Given the description of an element on the screen output the (x, y) to click on. 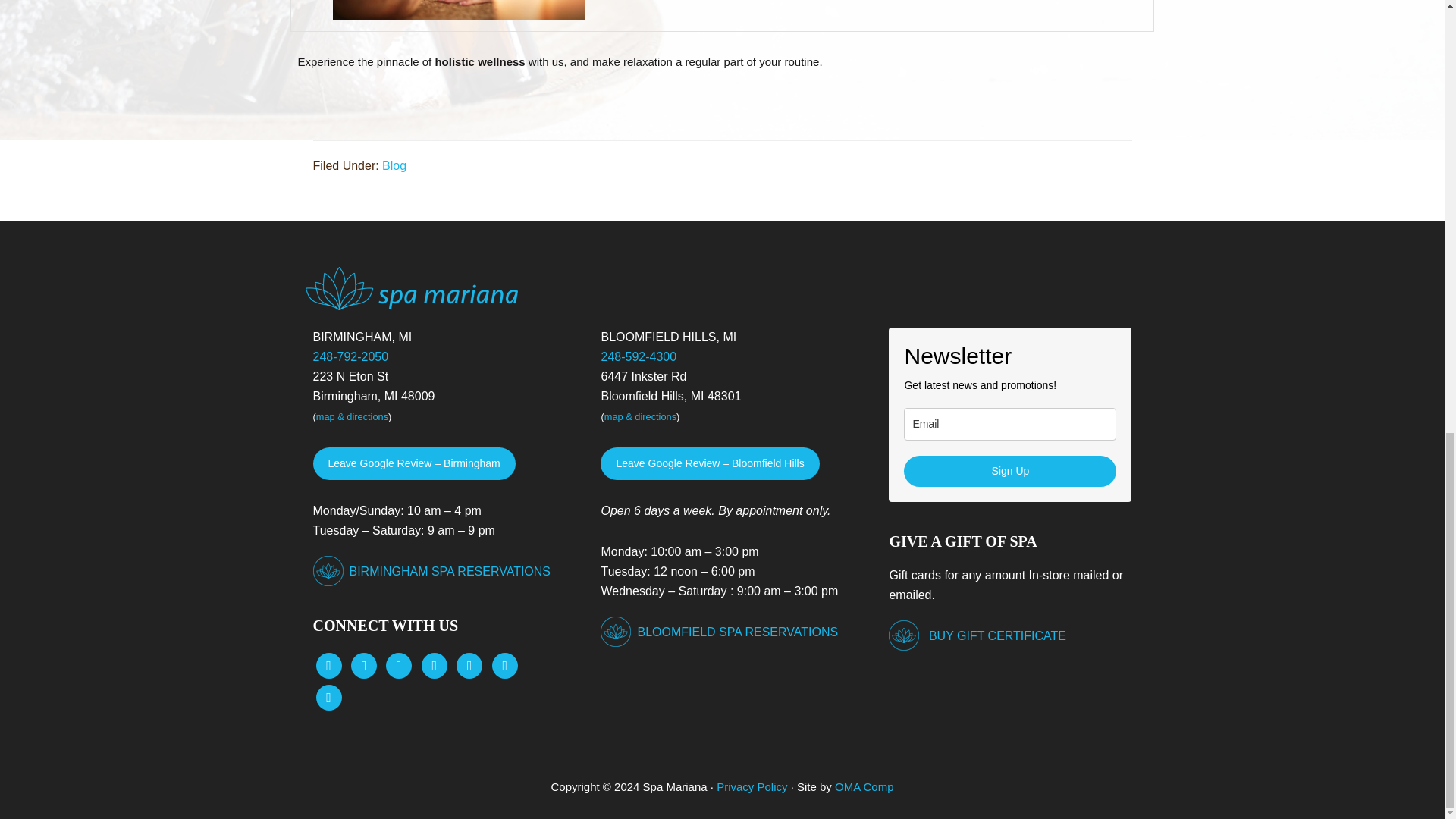
Facebook (327, 664)
Default Label (469, 664)
Default Label (434, 664)
Twitter (363, 664)
Default Label (505, 664)
Instagram (398, 664)
